Given the description of an element on the screen output the (x, y) to click on. 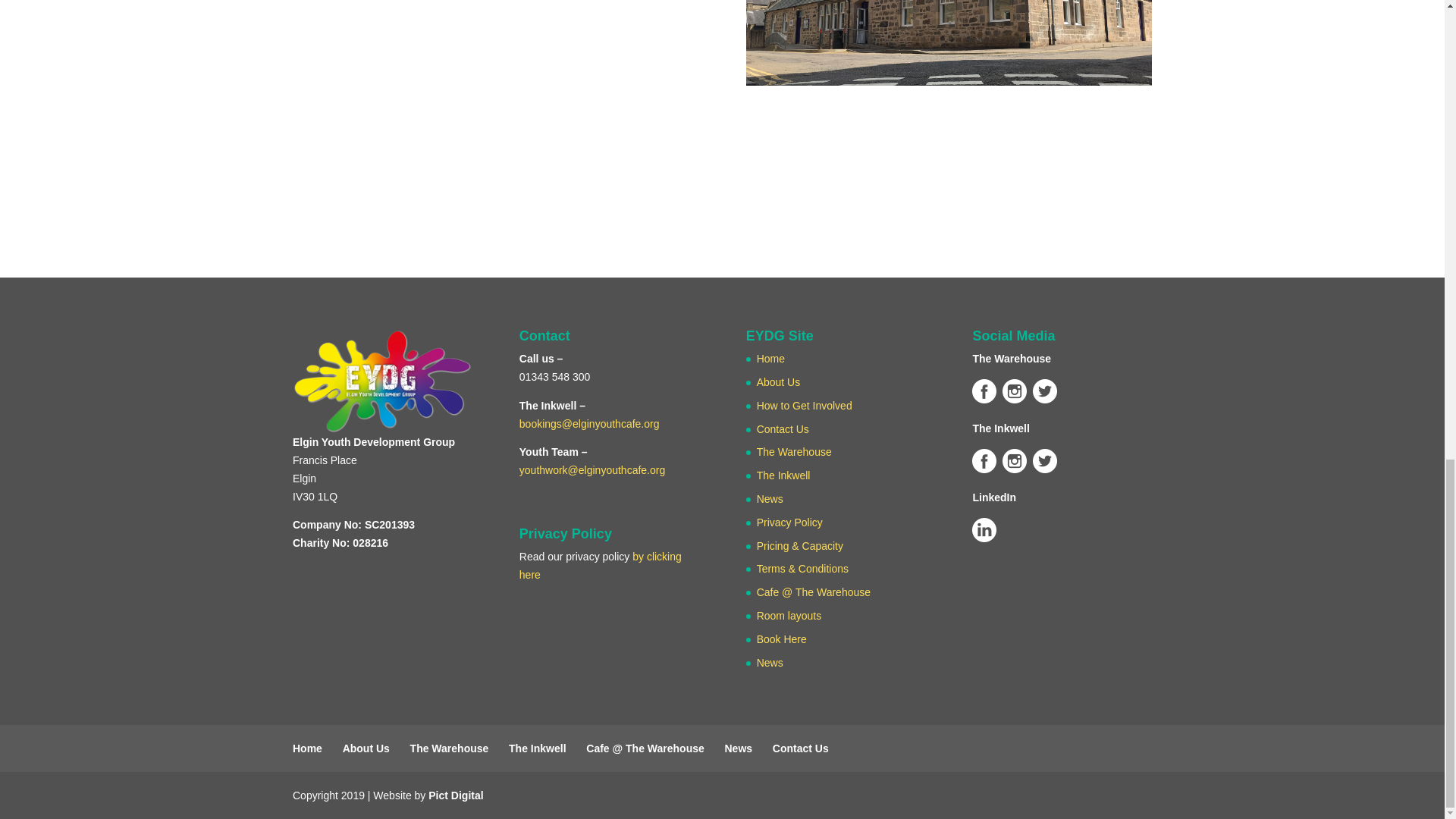
How to Get Involved (804, 405)
Contact Us (783, 428)
Home (770, 358)
About Us (778, 381)
by clicking here (600, 565)
